Given the description of an element on the screen output the (x, y) to click on. 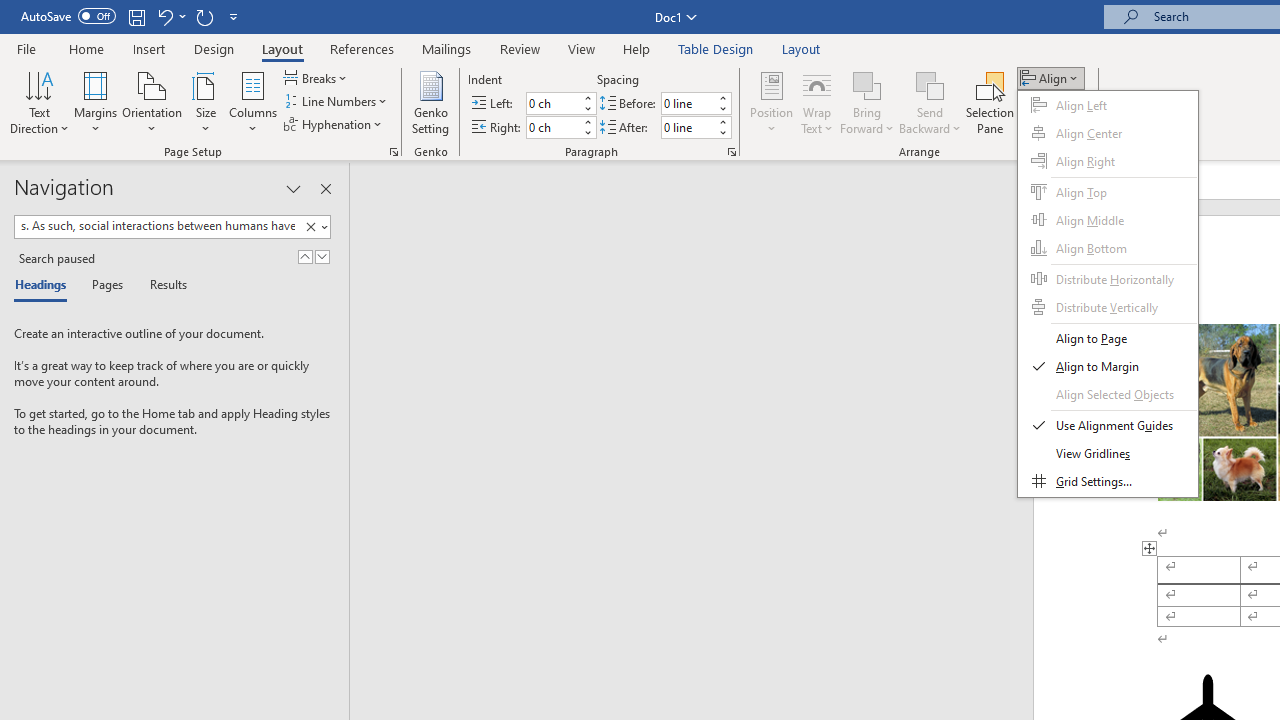
Position (771, 102)
Send Backward (930, 102)
Selection Pane... (990, 102)
Repeat Style (204, 15)
Send Backward (930, 84)
&Align (1108, 294)
Indent Right (552, 127)
Spacing After (687, 127)
